Given the description of an element on the screen output the (x, y) to click on. 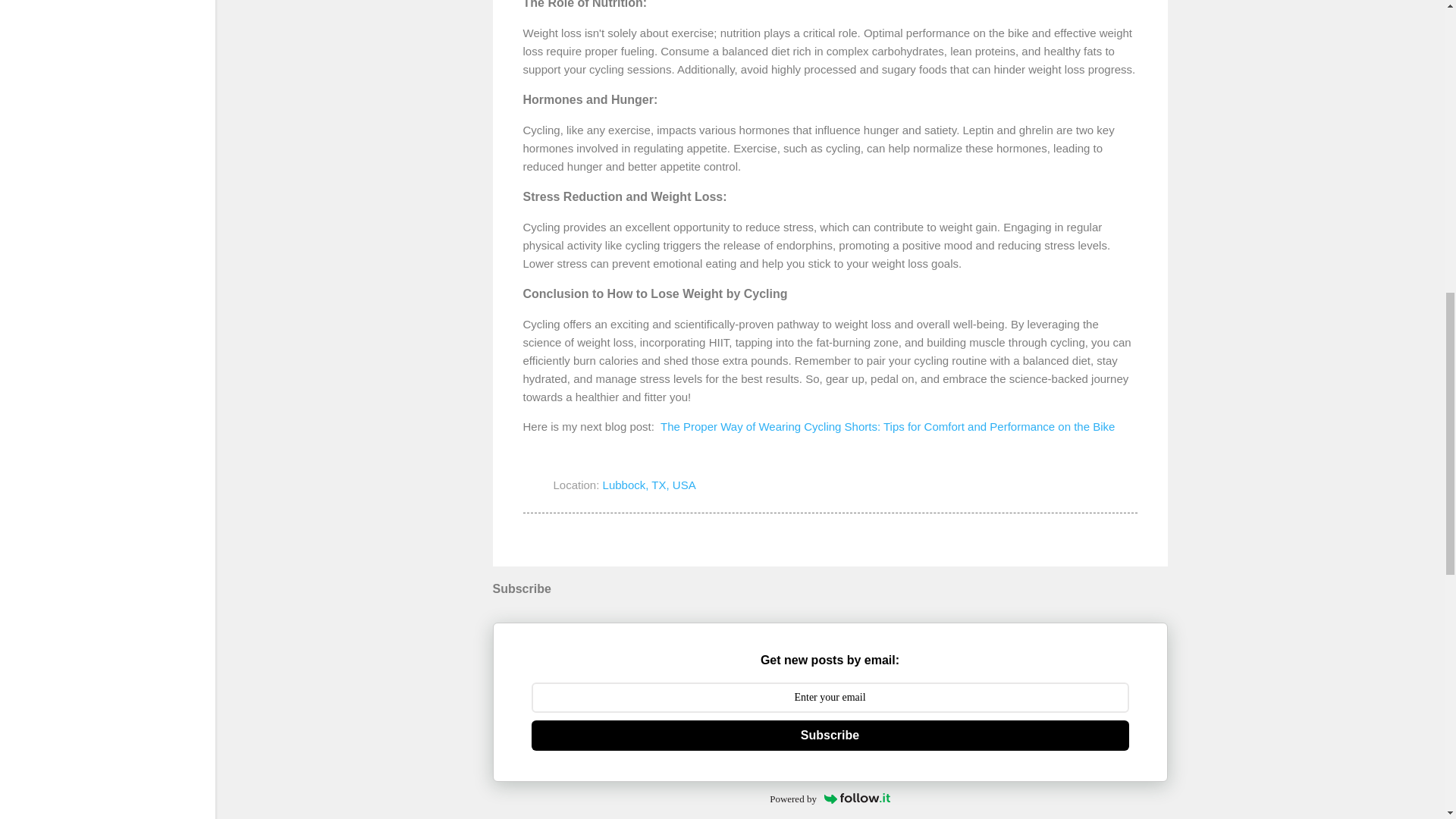
Subscribe (829, 735)
Powered by (830, 798)
Lubbock, TX, USA (648, 484)
